Given the description of an element on the screen output the (x, y) to click on. 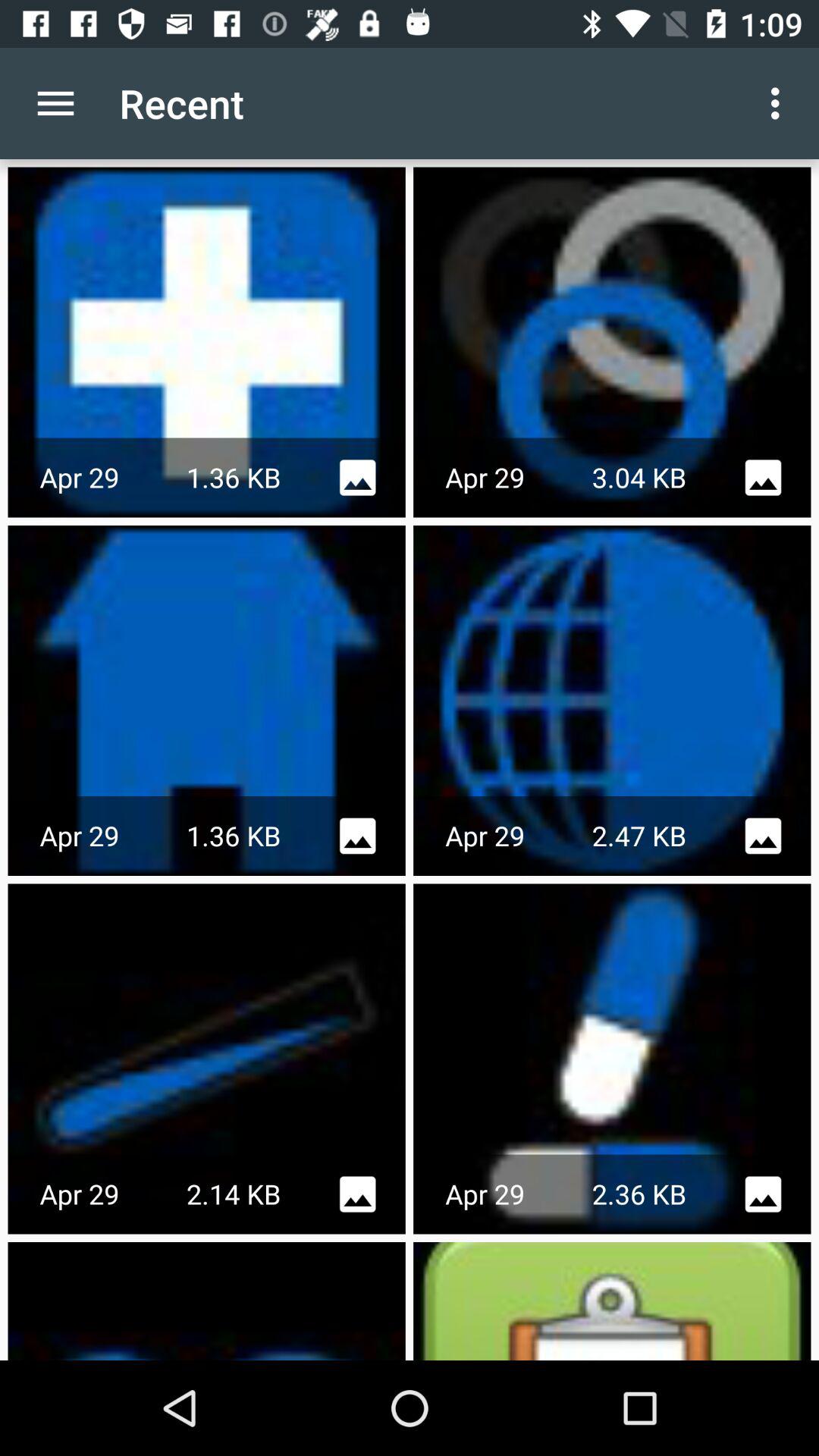
turn on the icon to the right of recent app (779, 103)
